Given the description of an element on the screen output the (x, y) to click on. 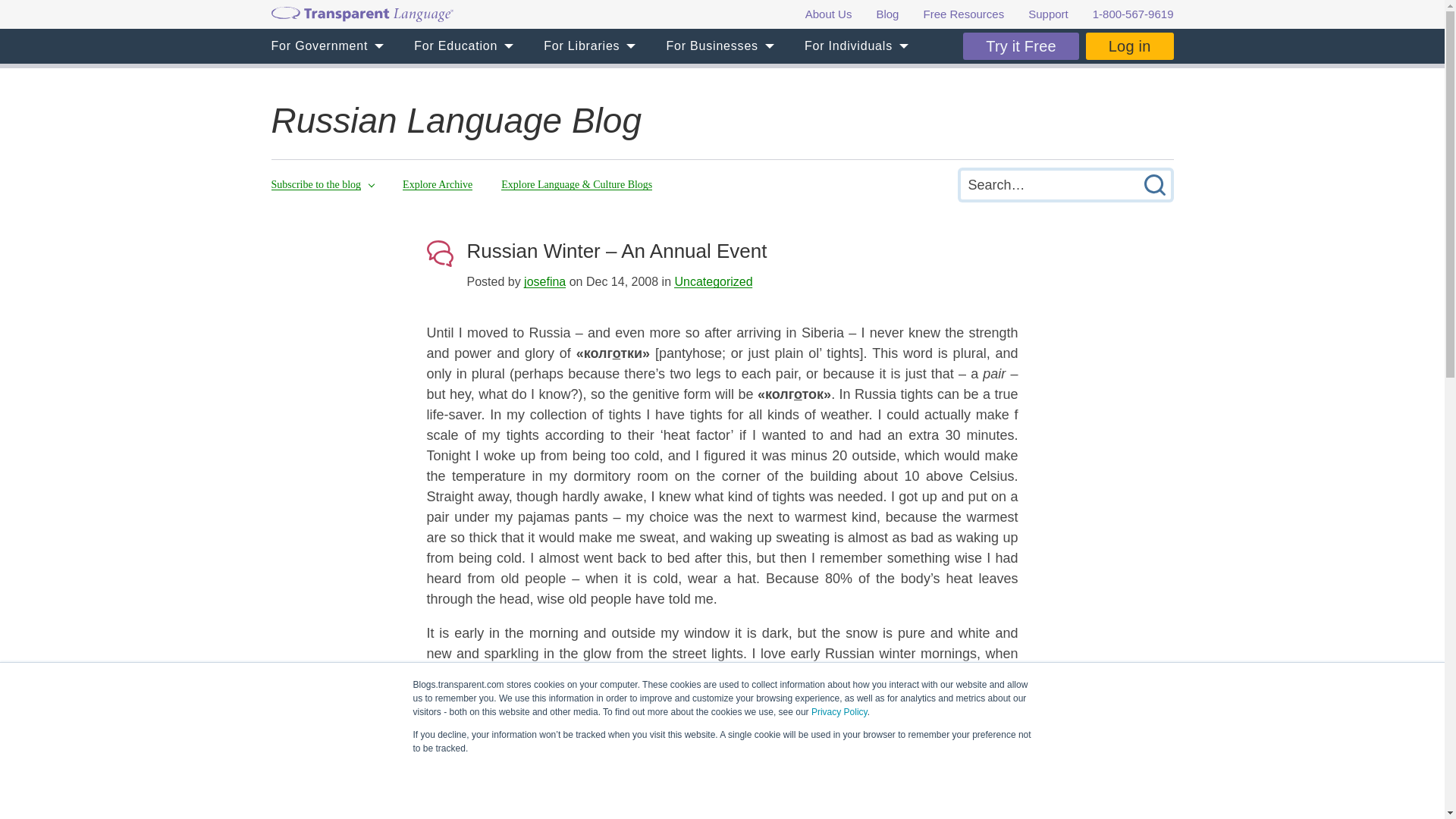
Decline (726, 784)
Try it Free (1020, 45)
Accept (661, 784)
Posts by josefina (545, 281)
Privacy Policy (838, 711)
Submit Search (1153, 184)
